Given the description of an element on the screen output the (x, y) to click on. 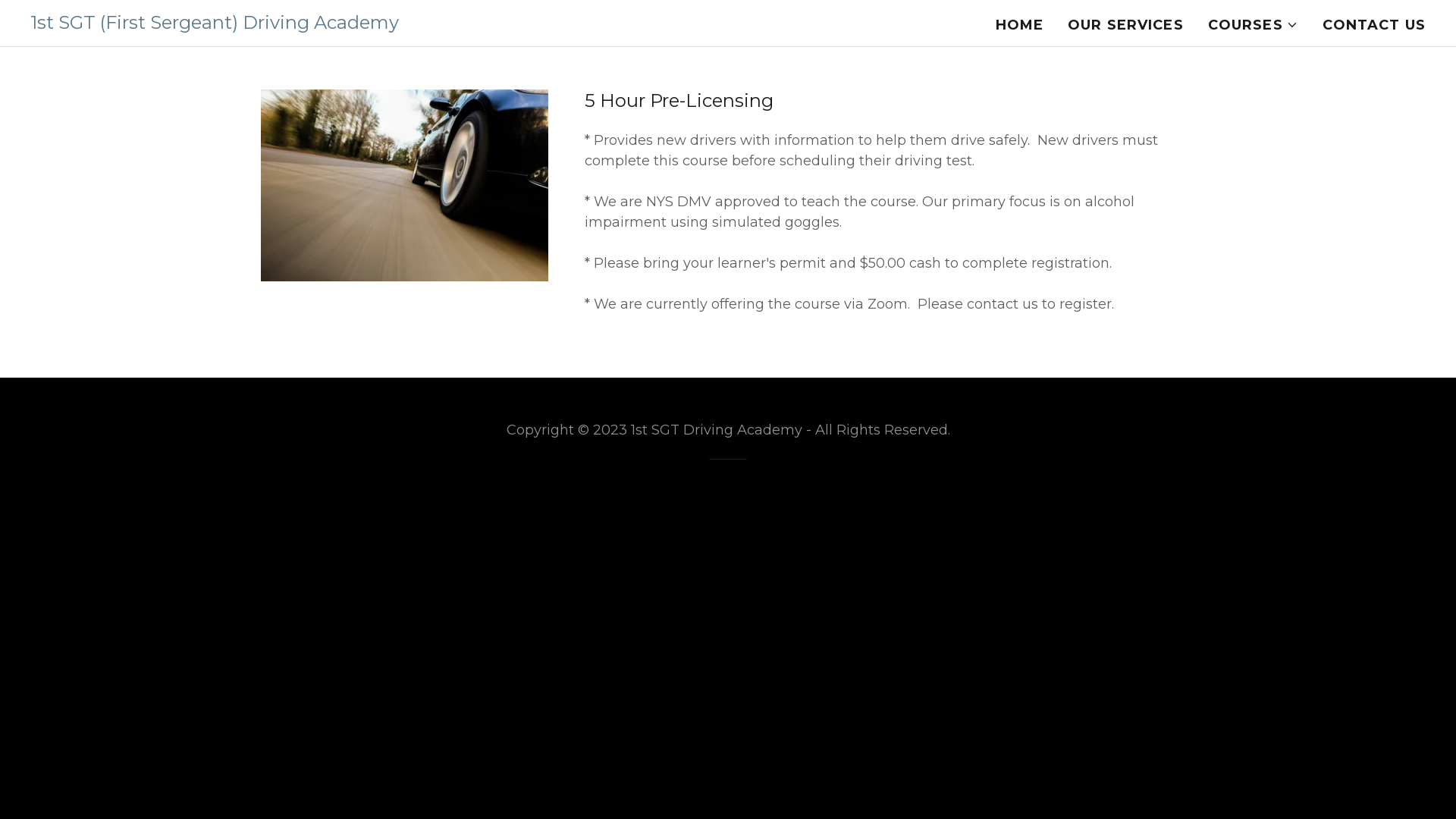
COURSES Element type: text (1253, 24)
CONTACT US Element type: text (1373, 24)
HOME Element type: text (1019, 24)
1st SGT (First Sergeant) Driving Academy Element type: text (214, 23)
OUR SERVICES Element type: text (1125, 24)
